Given the description of an element on the screen output the (x, y) to click on. 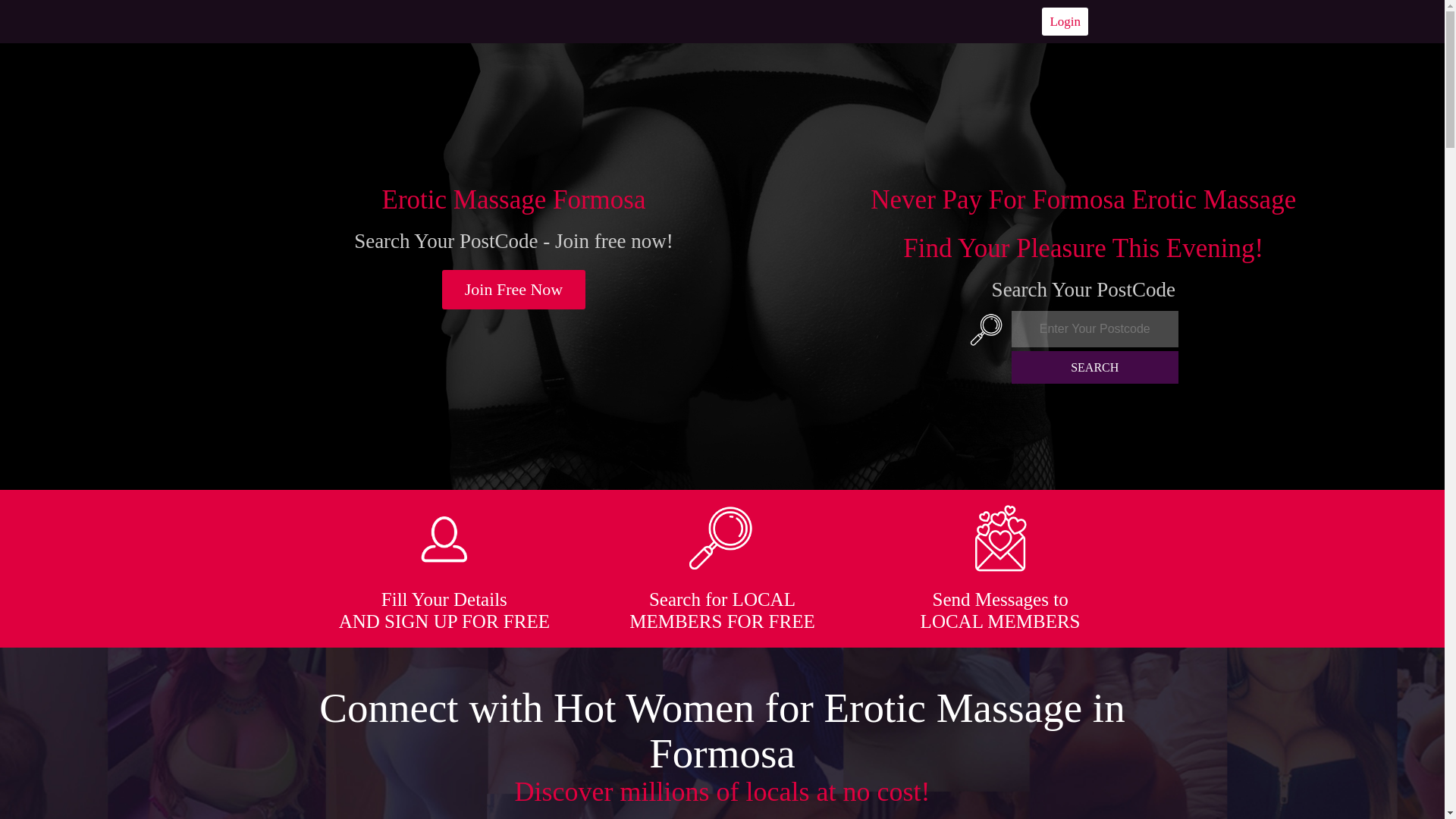
SEARCH (1094, 367)
Login (1064, 21)
Join Free Now (514, 289)
Login (1064, 21)
Join (514, 289)
